Given the description of an element on the screen output the (x, y) to click on. 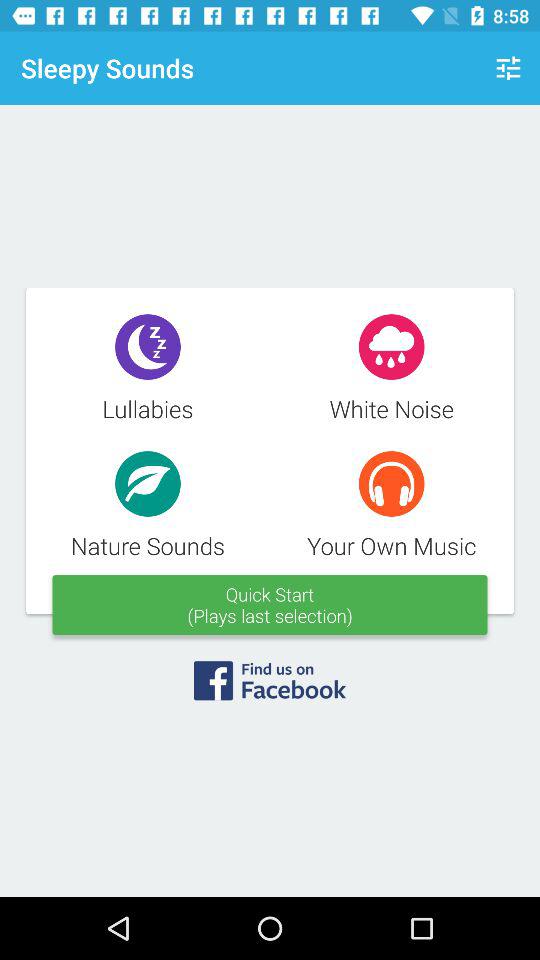
open facebook (269, 687)
